Given the description of an element on the screen output the (x, y) to click on. 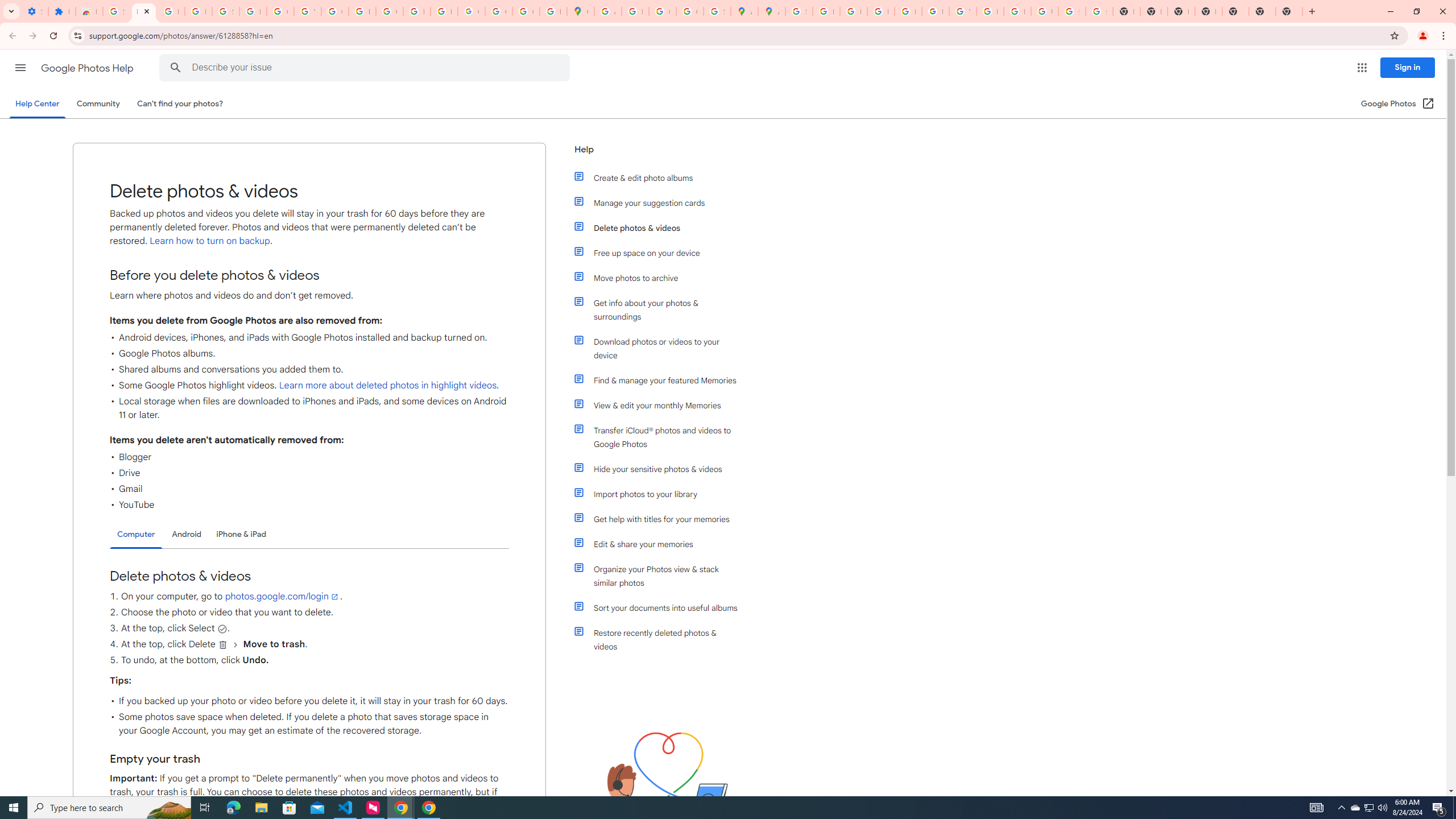
Sign in - Google Accounts (225, 11)
Sign in - Google Accounts (799, 11)
Google Photos (Open in a new window) (1397, 103)
Extensions (61, 11)
New Tab (1208, 11)
Restore recently deleted photos & videos (661, 639)
https://scholar.google.com/ (362, 11)
Find & manage your featured Memories (661, 380)
Download photos or videos to your device (661, 348)
Help (656, 153)
